Given the description of an element on the screen output the (x, y) to click on. 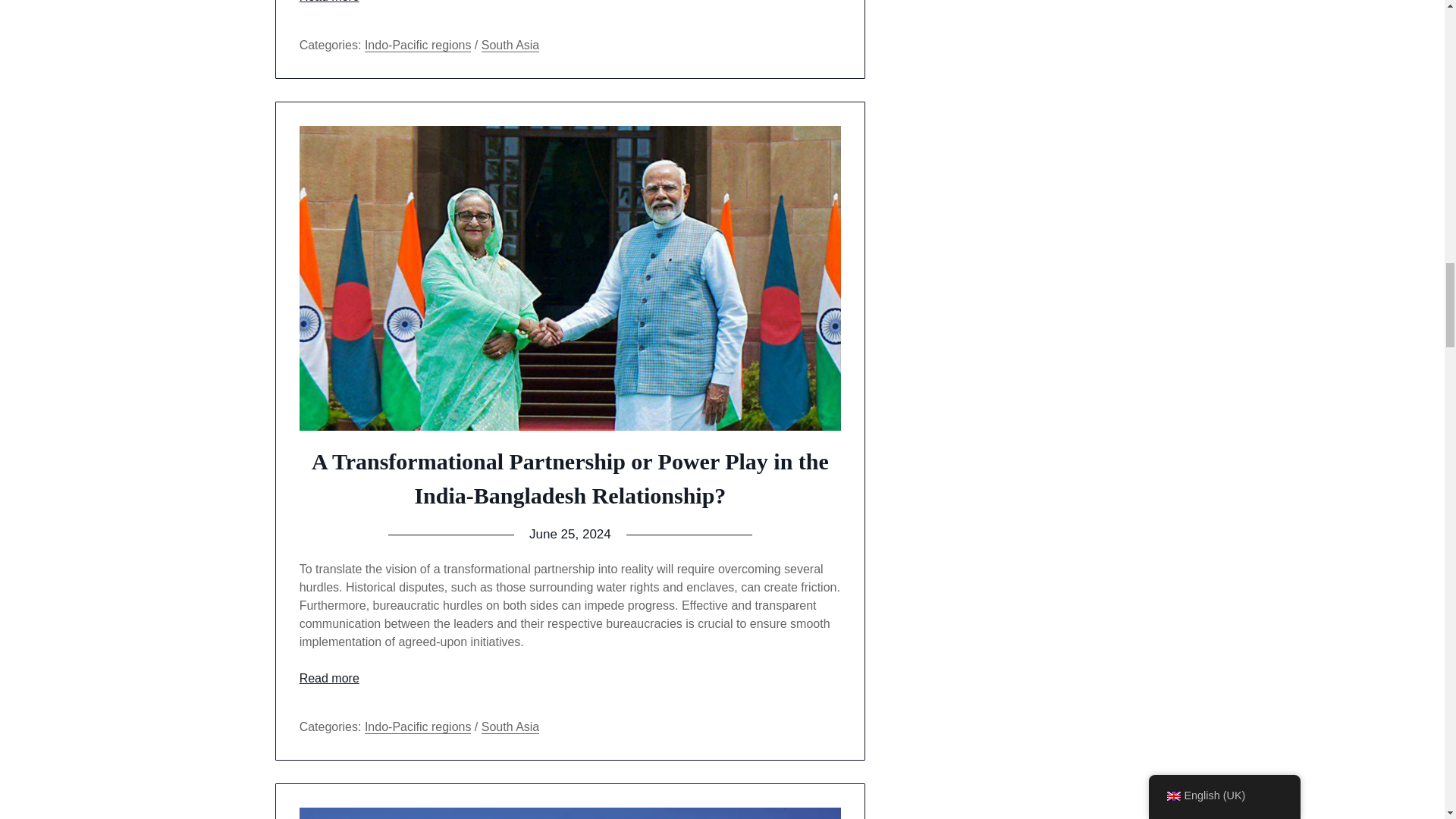
Indo-Pacific regions (418, 726)
Read more (329, 1)
South Asia (510, 45)
Indo-Pacific regions (418, 45)
June 25, 2024 (570, 534)
Read more (329, 677)
South Asia (510, 726)
